Given the description of an element on the screen output the (x, y) to click on. 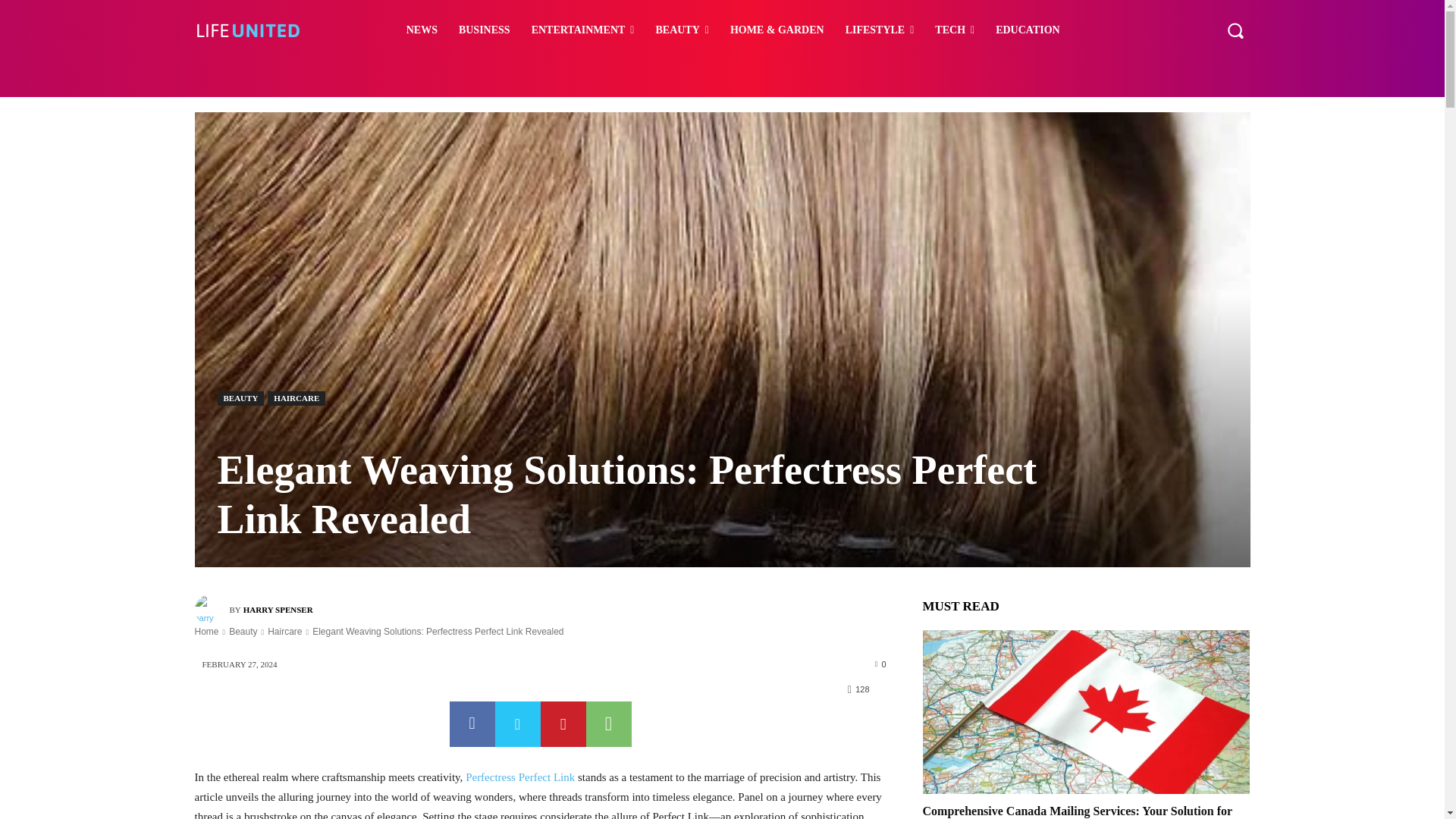
WhatsApp (607, 723)
View all posts in Beauty (242, 631)
Pinterest (562, 723)
Twitter (517, 723)
View all posts in Haircare (284, 631)
harry spenser (210, 609)
Facebook (471, 723)
ENTERTAINMENT (583, 30)
BUSINESS (484, 30)
